Given the description of an element on the screen output the (x, y) to click on. 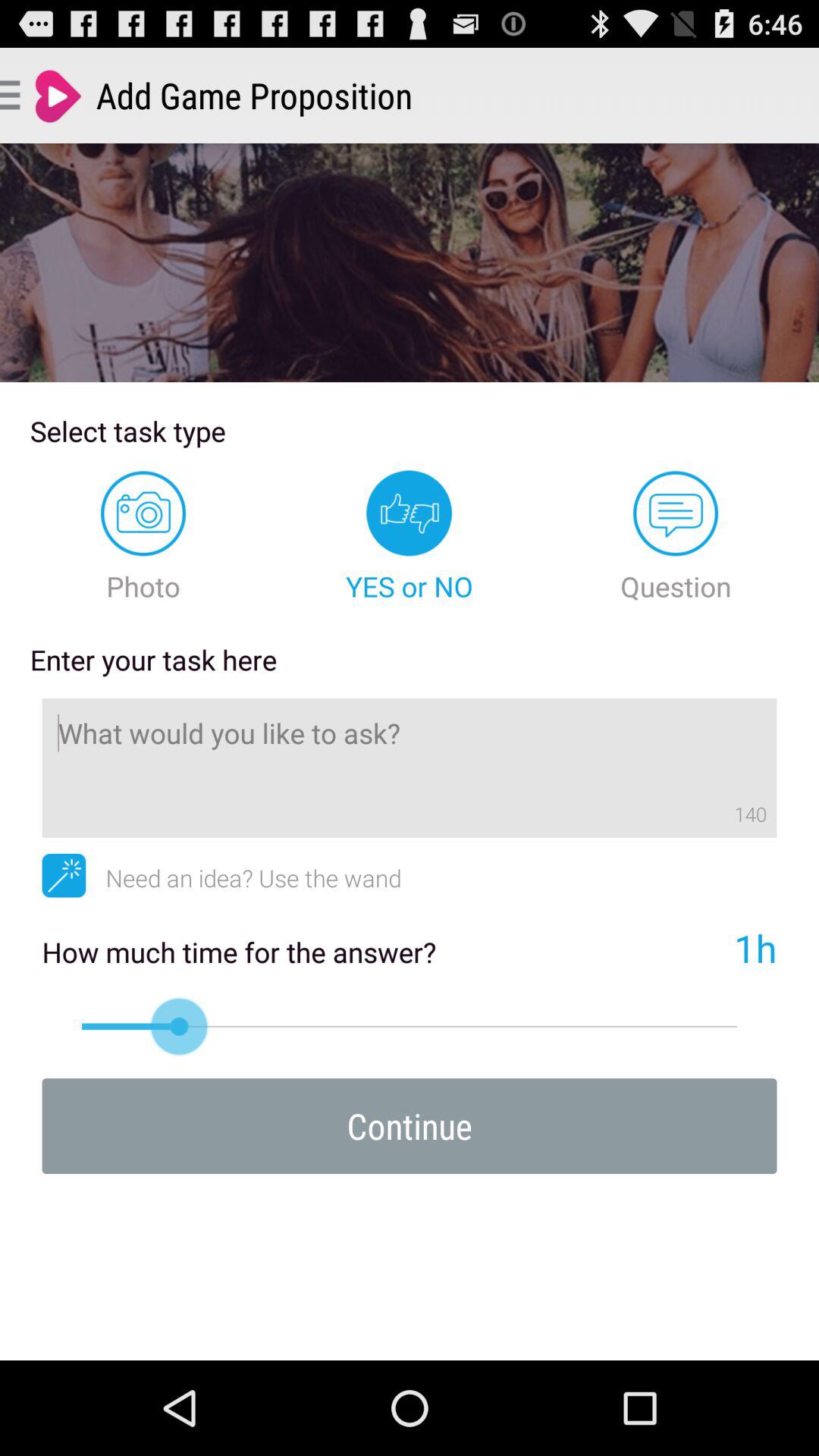
launch the icon to the left of the question (409, 537)
